Given the description of an element on the screen output the (x, y) to click on. 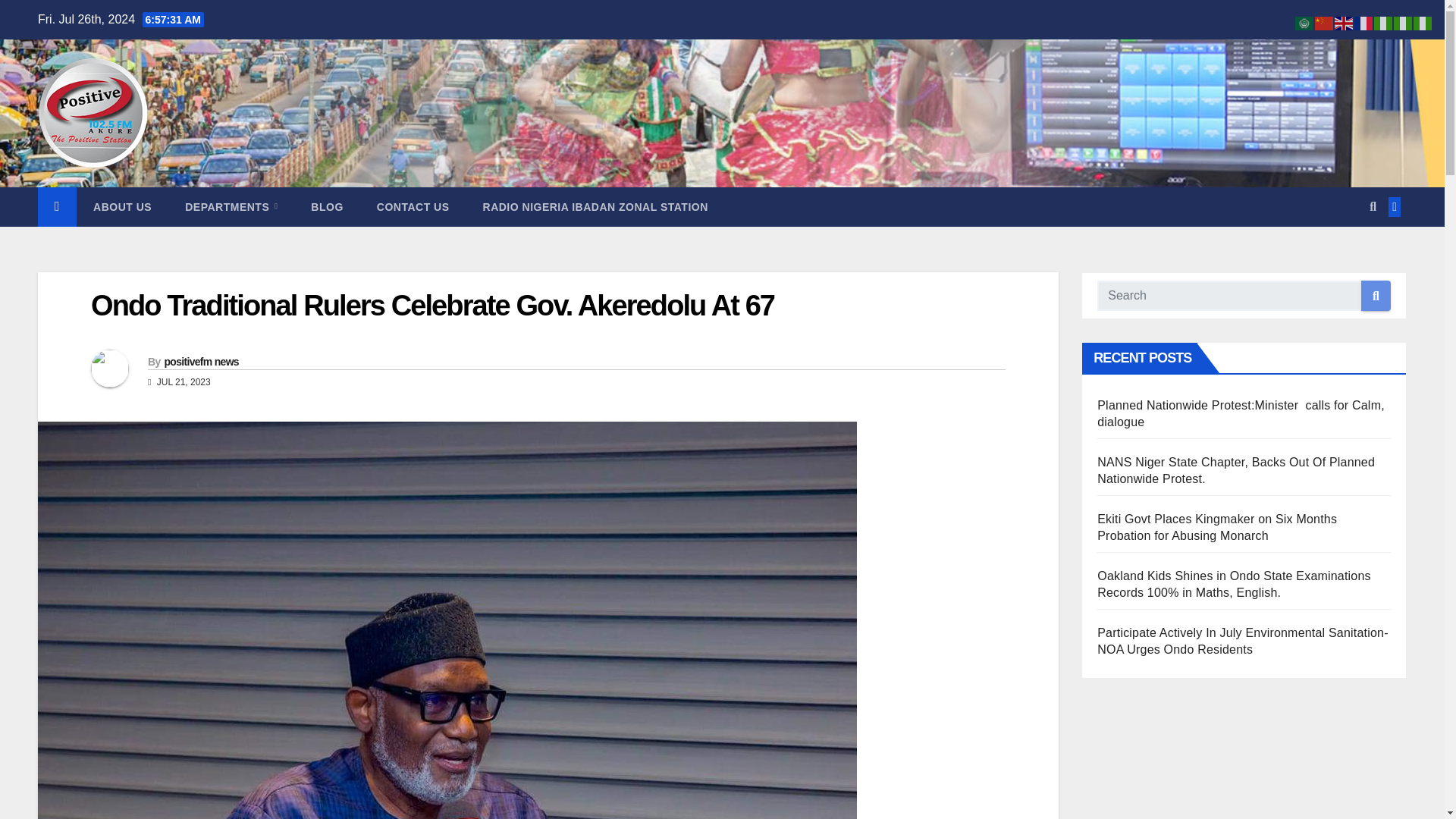
Contact us (412, 206)
Ondo Traditional Rulers Celebrate Gov. Akeredolu At 67 (432, 305)
DEPARTMENTS (231, 206)
BLOG (326, 206)
RADIO NIGERIA IBADAN ZONAL STATION (595, 206)
ABOUT US (122, 206)
positivefm news (200, 361)
About us (122, 206)
Blog (326, 206)
CONTACT US (412, 206)
Radio Nigeria Ibadan Zonal Station (595, 206)
Departments (231, 206)
